Given the description of an element on the screen output the (x, y) to click on. 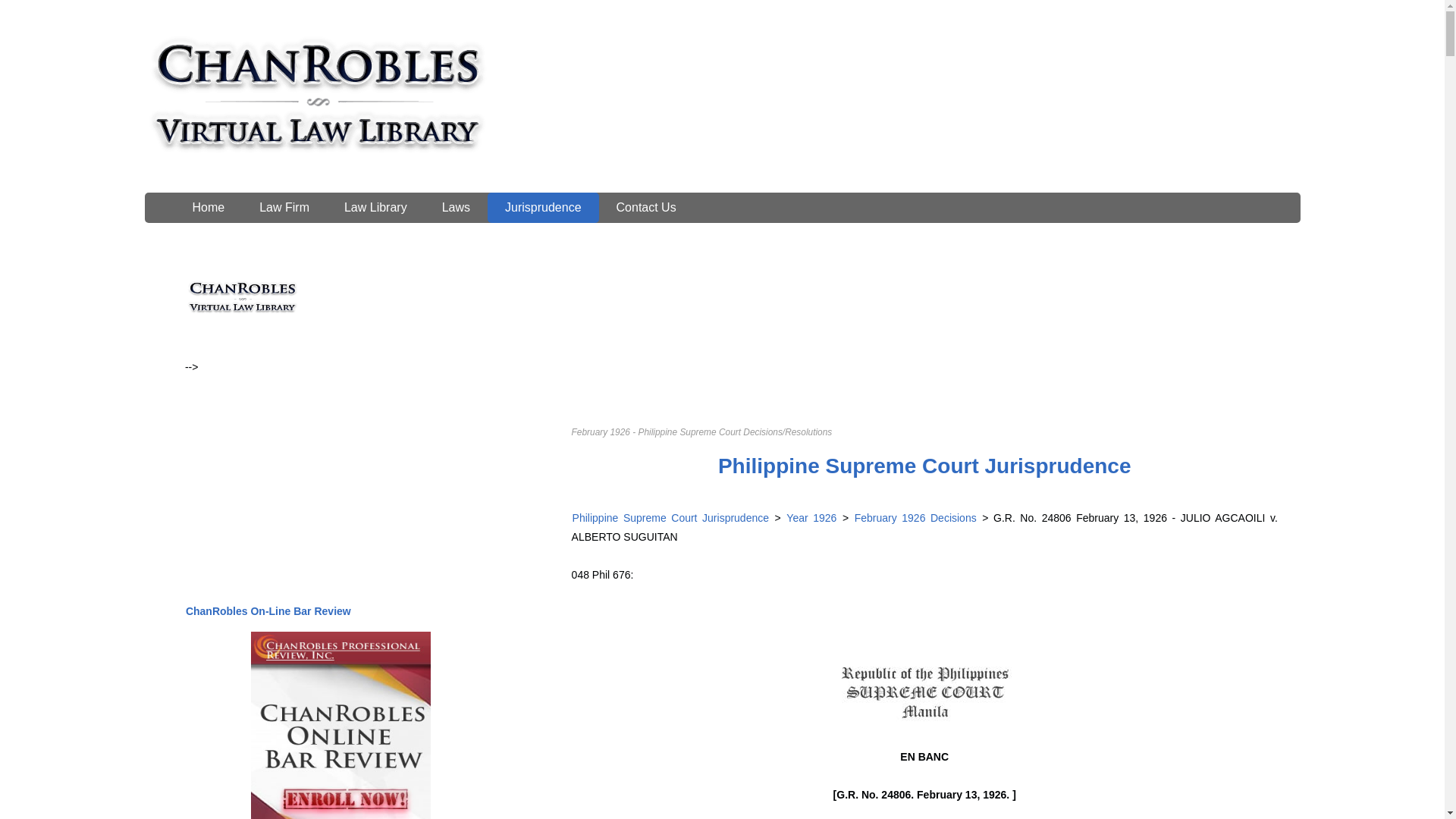
Philippine Supreme Court Jurisprudence (924, 465)
Jurisprudence (542, 207)
Law Library (375, 207)
Laws (456, 207)
February 1926 Decisions (912, 517)
Law Firm (283, 207)
Year 1926 (811, 517)
Home (207, 207)
ChanRobles On-Line Bar Review (268, 611)
Philippine Supreme Court Jurisprudence (671, 517)
